Given the description of an element on the screen output the (x, y) to click on. 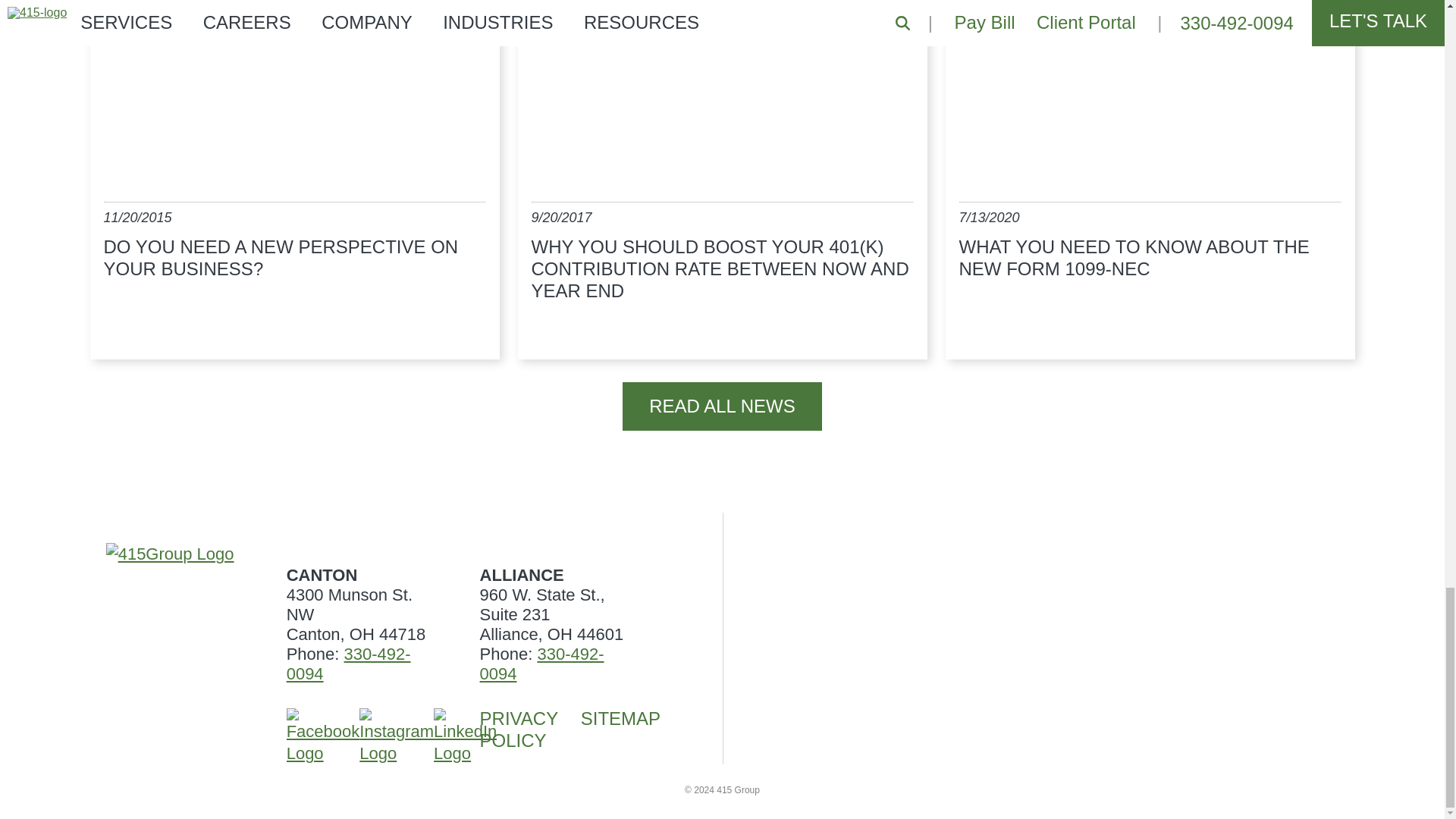
415Group on Facebook (322, 736)
415Group on LinkedIn (464, 736)
415Group on Instagram (396, 736)
415Group Home Page (177, 553)
